Given the description of an element on the screen output the (x, y) to click on. 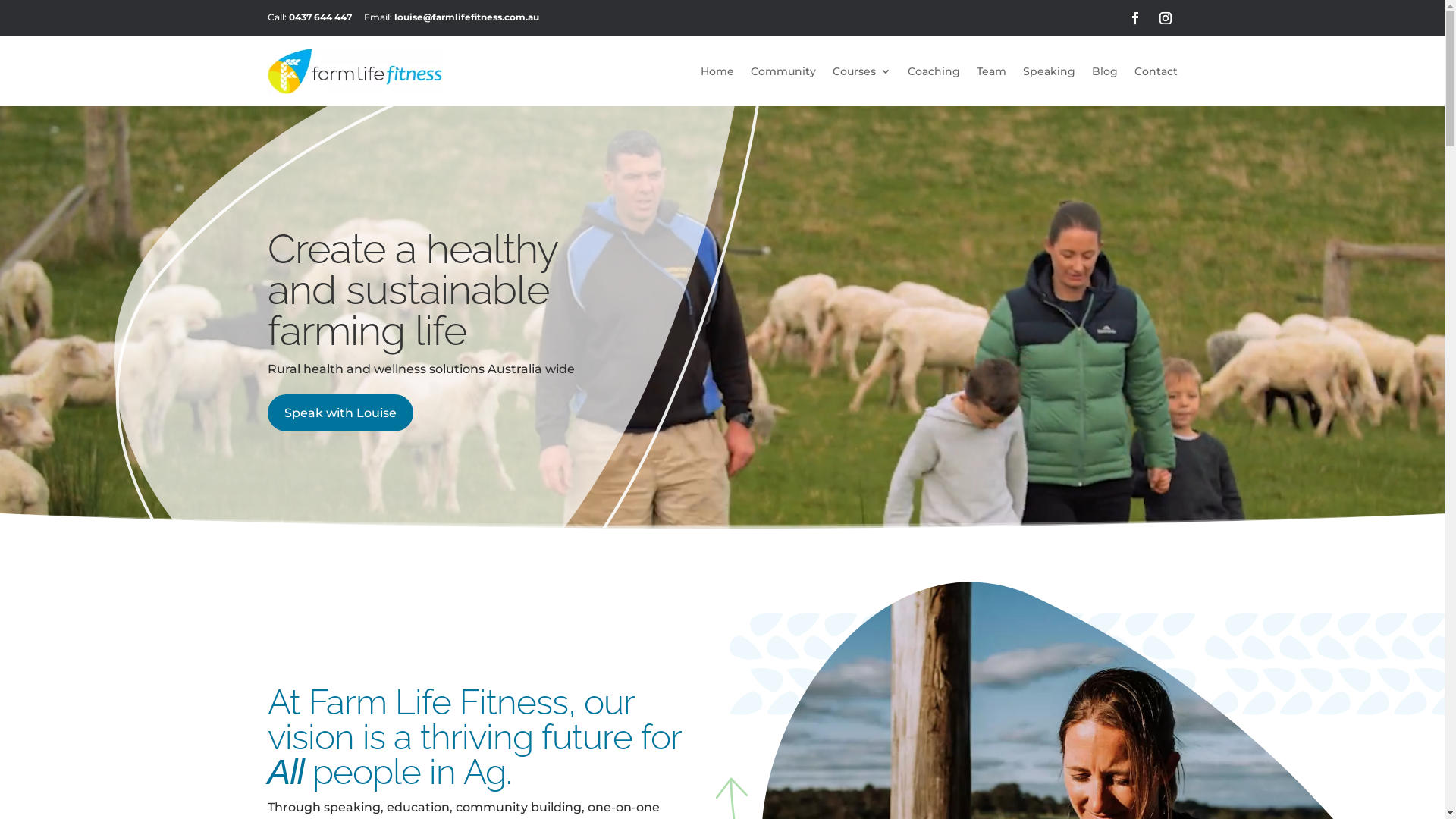
Home Element type: text (717, 71)
Community Element type: text (782, 71)
Coaching Element type: text (932, 71)
Courses Element type: text (861, 71)
Leaf Shape Overlay Element type: hover (482, 317)
Blog Element type: text (1104, 71)
Facebook Element type: text (1134, 18)
Contact Element type: text (1155, 71)
Speaking Element type: text (1048, 71)
Team Element type: text (991, 71)
Instagram Element type: text (1164, 18)
Skip to content Element type: text (0, 0)
Speak with Louise Element type: text (339, 412)
